Given the description of an element on the screen output the (x, y) to click on. 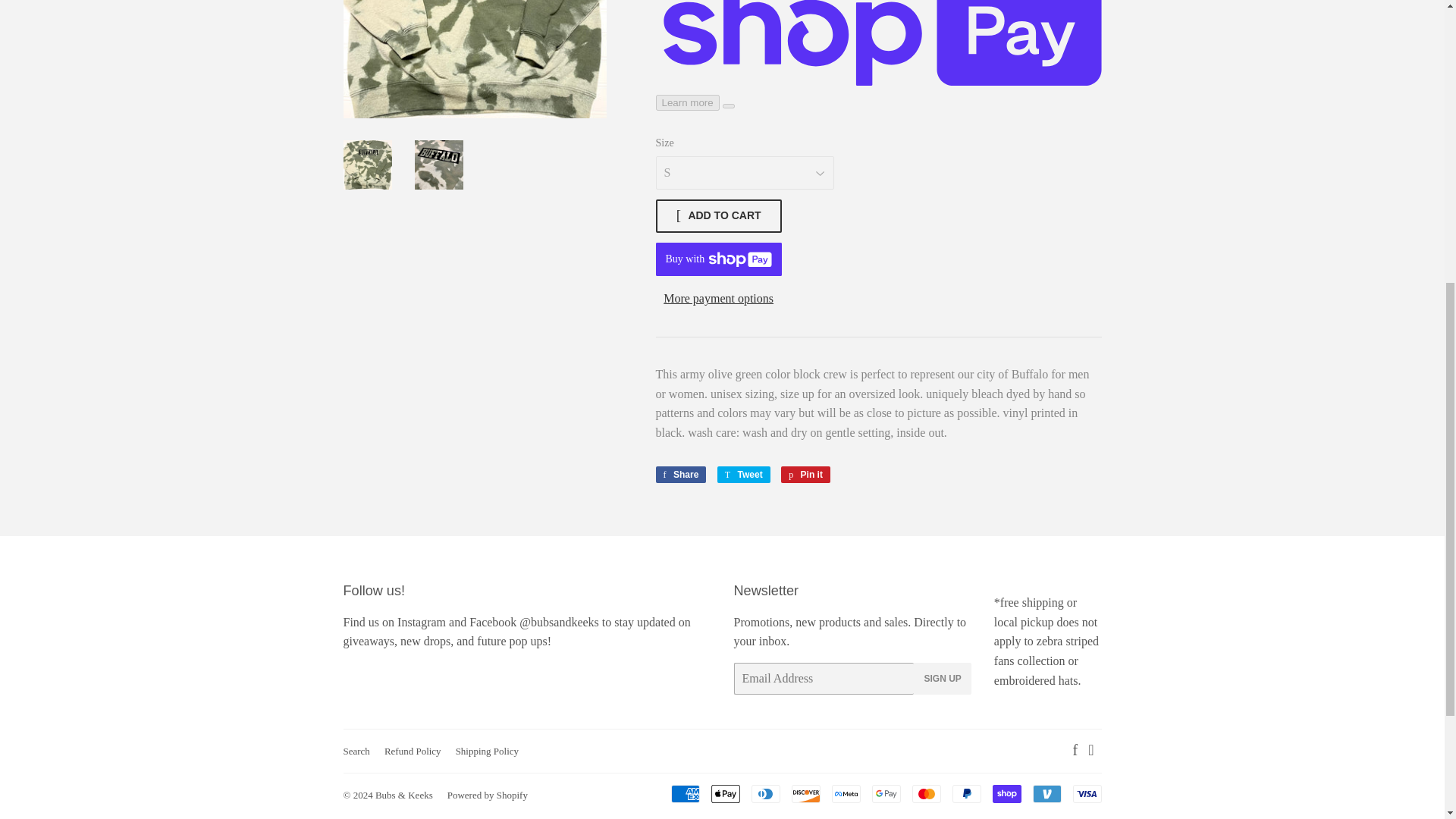
Venmo (1046, 793)
Discover (806, 793)
Tweet on Twitter (743, 474)
Diners Club (764, 793)
Meta Pay (845, 793)
Pin on Pinterest (804, 474)
Mastercard (925, 793)
Share on Facebook (680, 474)
Apple Pay (725, 793)
PayPal (966, 793)
Google Pay (886, 793)
Visa (1085, 793)
American Express (683, 793)
Shop Pay (1005, 793)
